Given the description of an element on the screen output the (x, y) to click on. 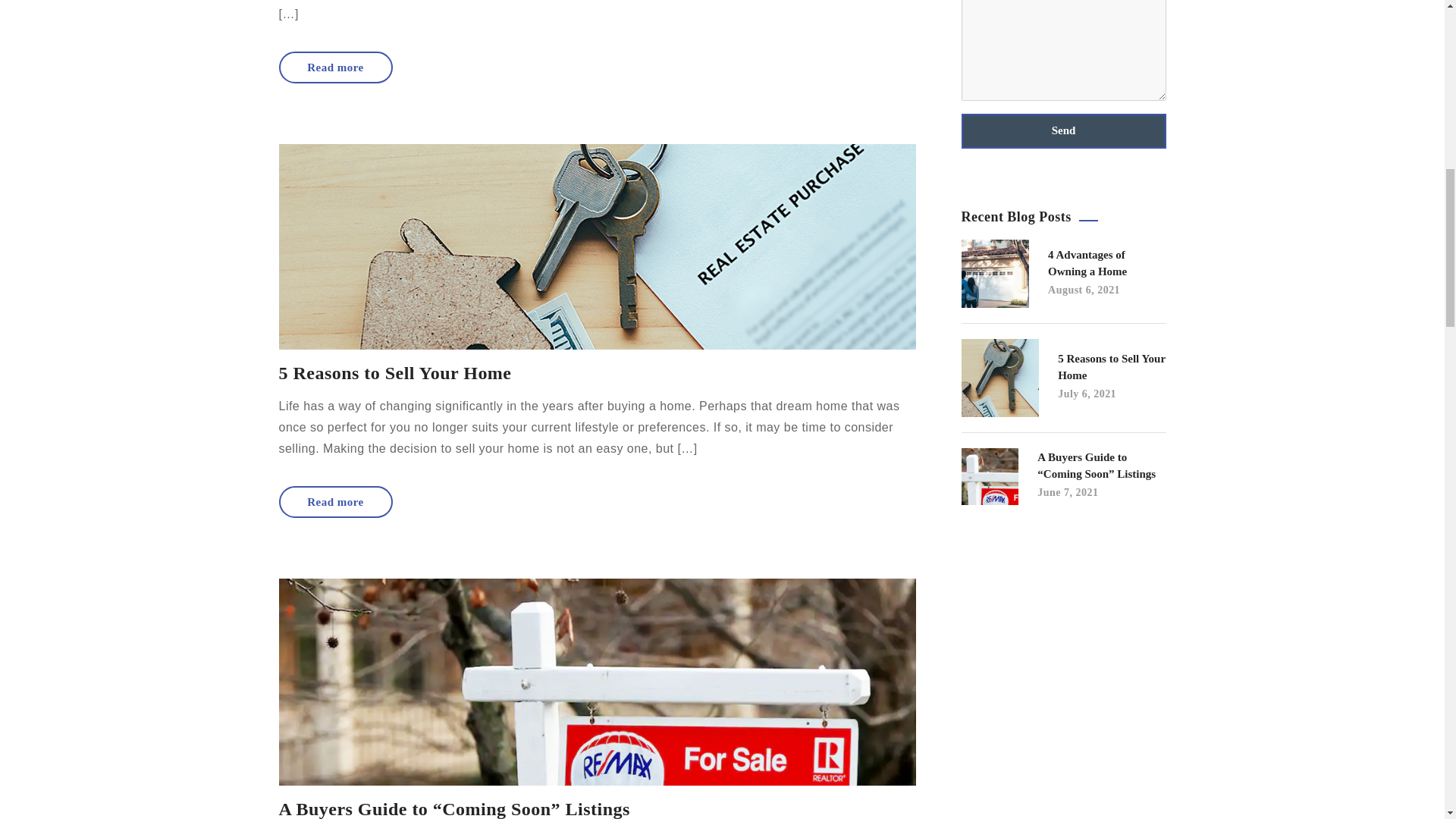
Send (1063, 130)
